Given the description of an element on the screen output the (x, y) to click on. 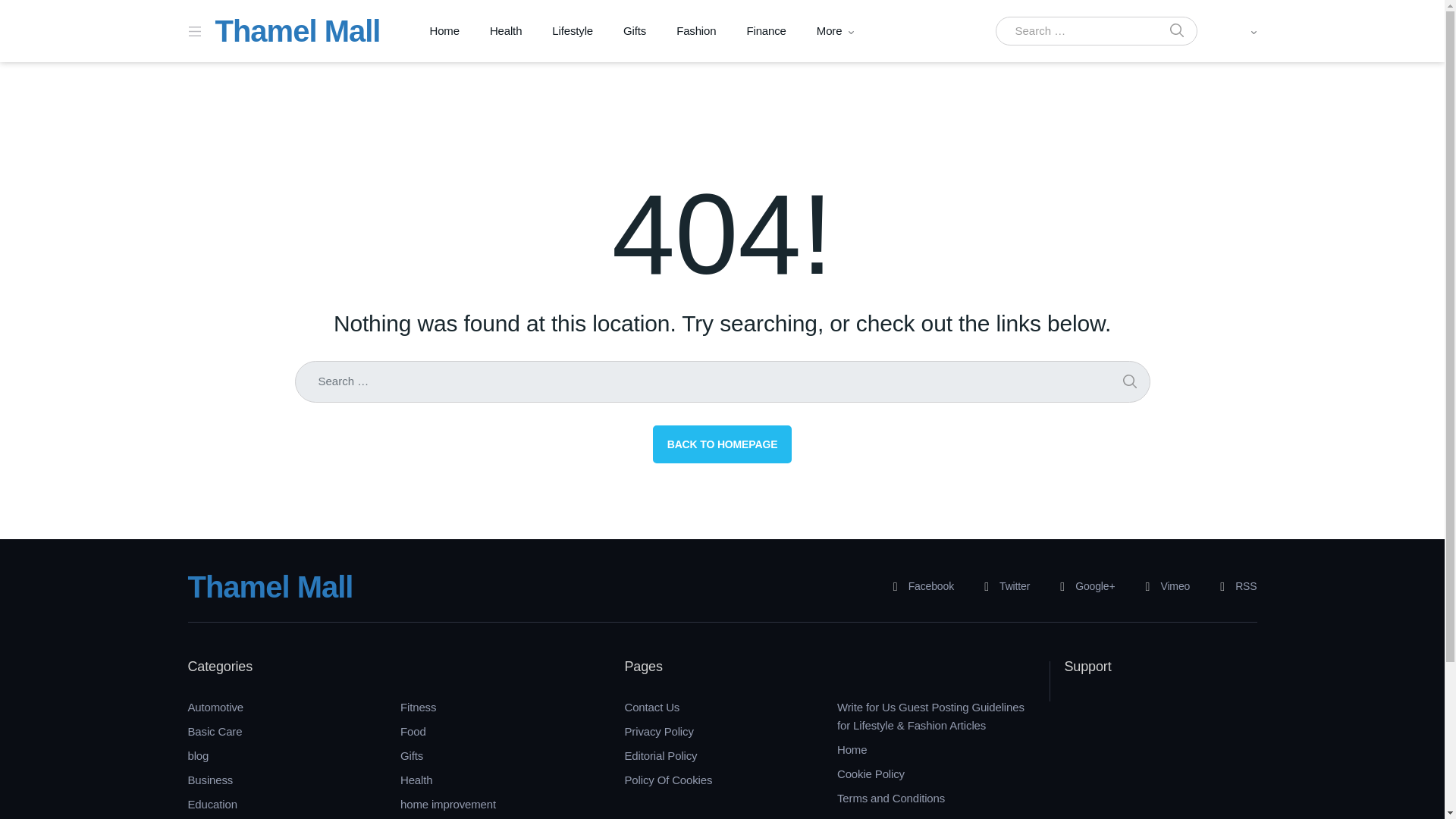
Thamel Mall (270, 586)
SEARCH (1128, 381)
Twitter (1001, 586)
Home (443, 31)
Facebook (917, 586)
SEARCH (1176, 31)
Thamel Mall (297, 30)
BACK TO HOMEPAGE (722, 443)
Fashion (695, 31)
Health (505, 31)
